Given the description of an element on the screen output the (x, y) to click on. 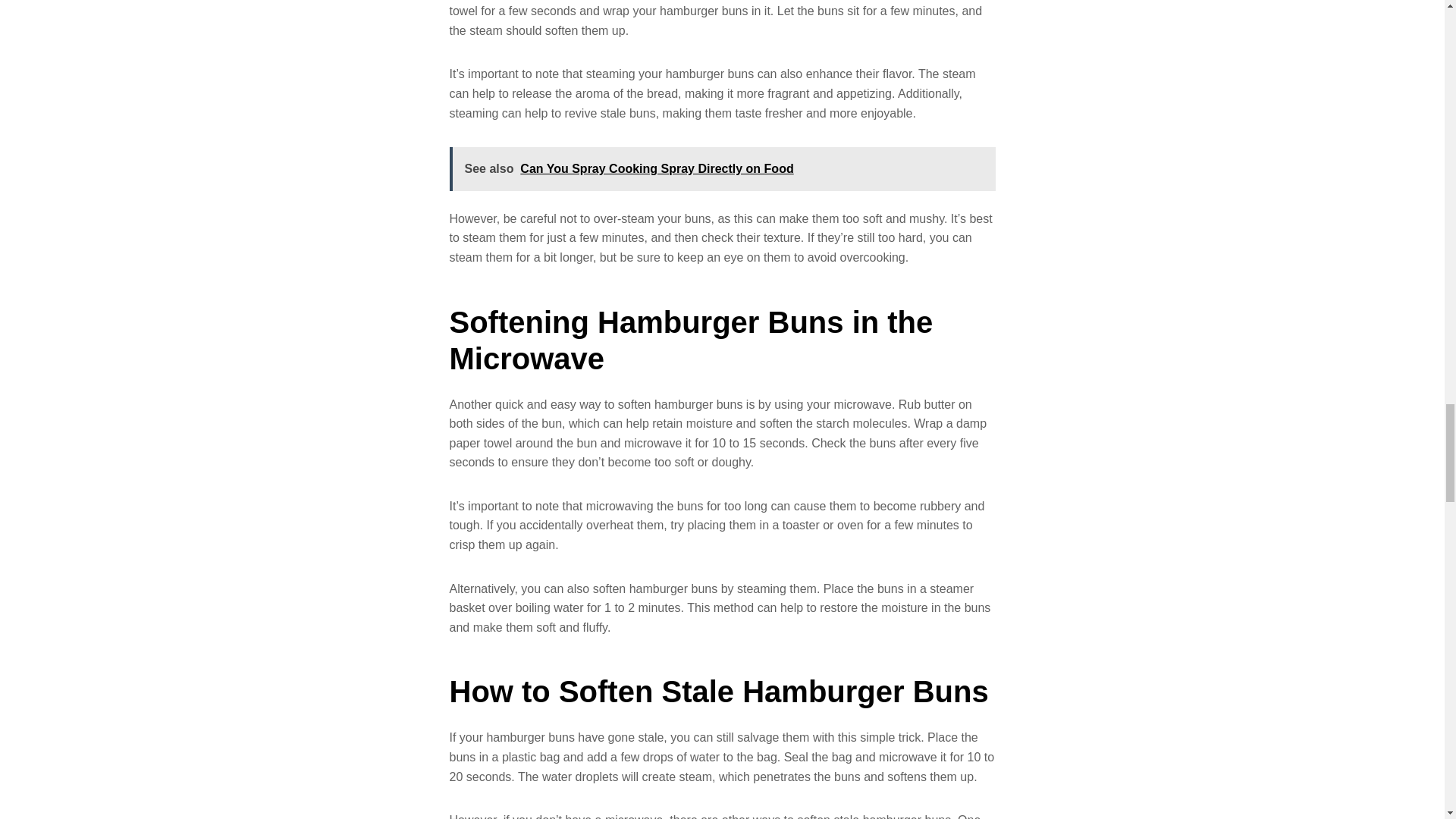
See also  Can You Spray Cooking Spray Directly on Food (721, 168)
